Given the description of an element on the screen output the (x, y) to click on. 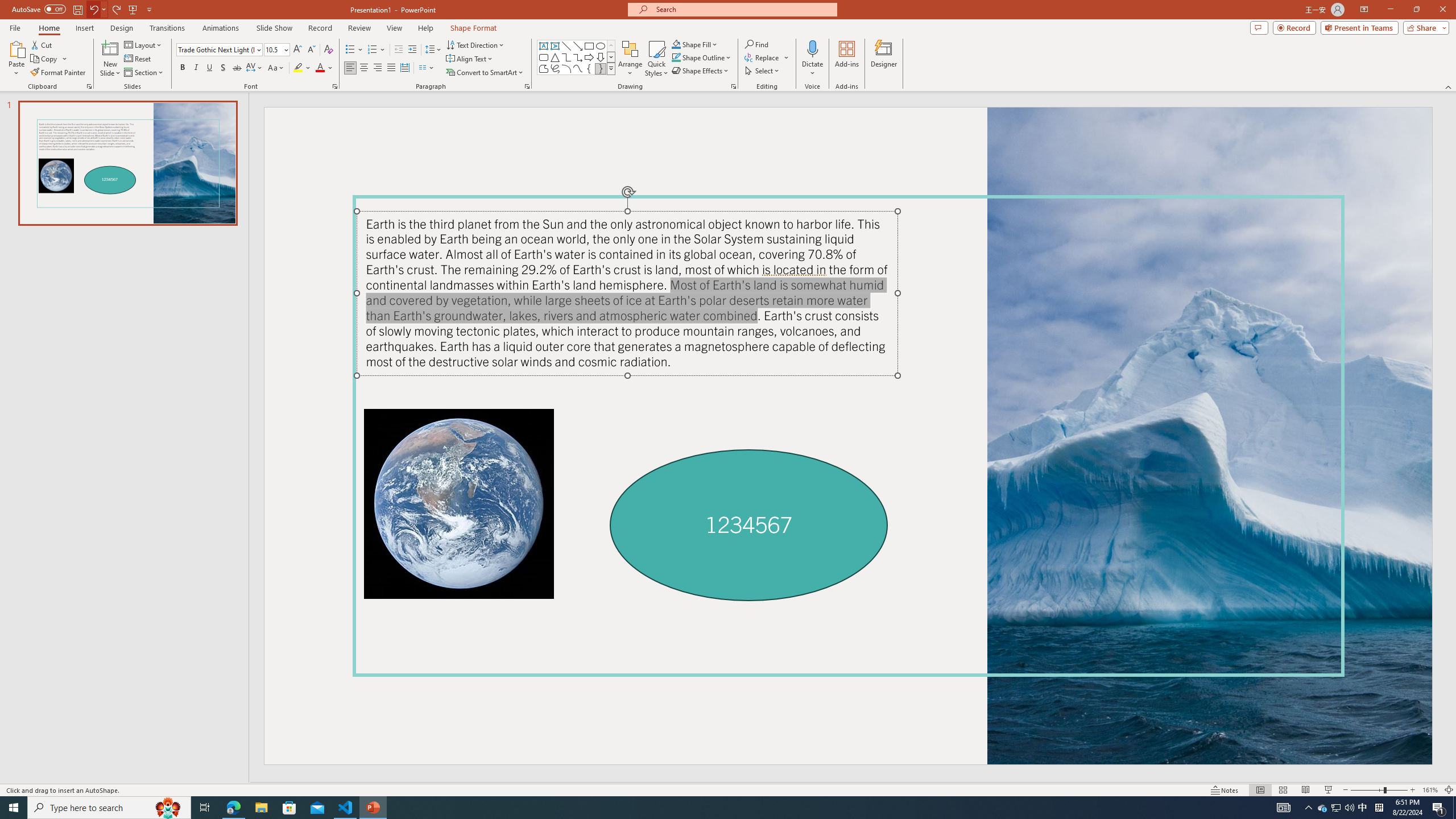
Distributed (404, 67)
Find... (756, 44)
Align Left (349, 67)
Layout (143, 44)
Select (762, 69)
Shape Effects (700, 69)
Vertical Text Box (554, 45)
Microsoft search (742, 9)
Convert to SmartArt (485, 72)
Shape Format (473, 28)
Strikethrough (237, 67)
